Given the description of an element on the screen output the (x, y) to click on. 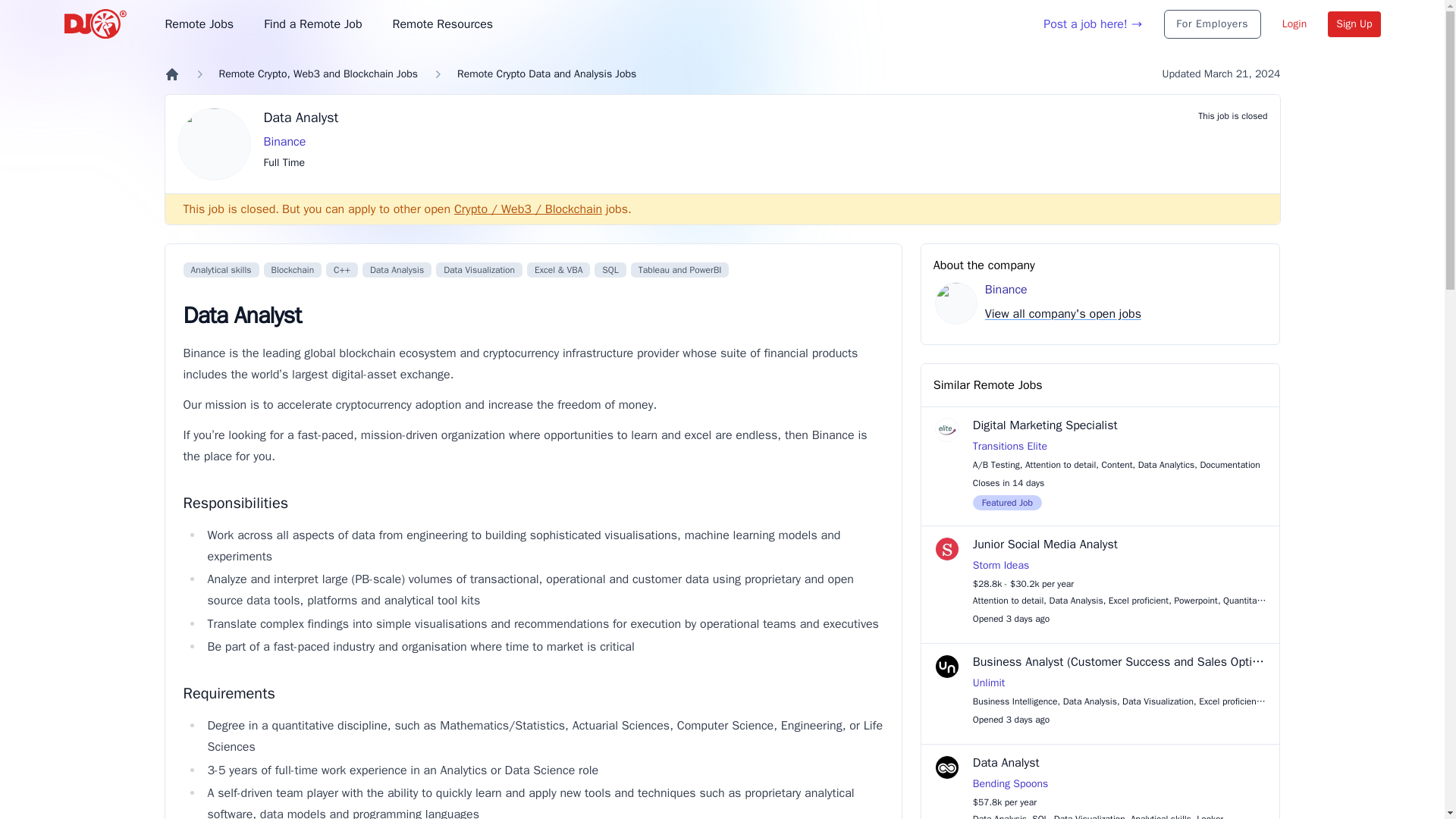
Find a Remote Job (312, 24)
Login (1294, 23)
Blockchain (292, 269)
Binance (727, 141)
Dynamite Jobs (97, 24)
Remote Resources (443, 24)
Dynamite Jobs (171, 73)
Dynamite Jobs (97, 24)
Data Analyst (727, 117)
Remote Attention to detail Jobs (1060, 464)
